Given the description of an element on the screen output the (x, y) to click on. 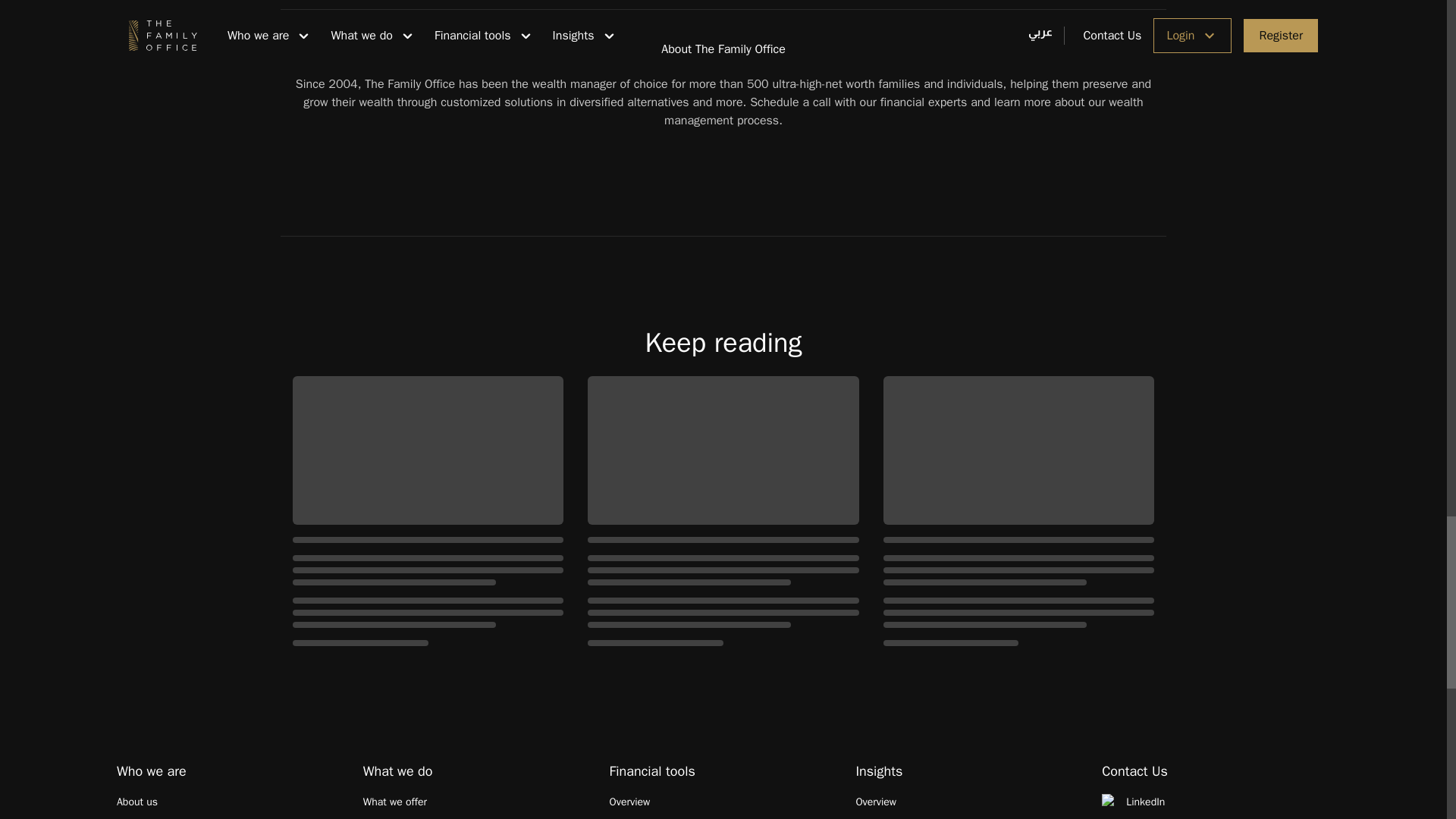
What we offer (476, 801)
About us (230, 801)
Overview (969, 801)
Overview (724, 801)
LinkedIn (1216, 801)
